Given the description of an element on the screen output the (x, y) to click on. 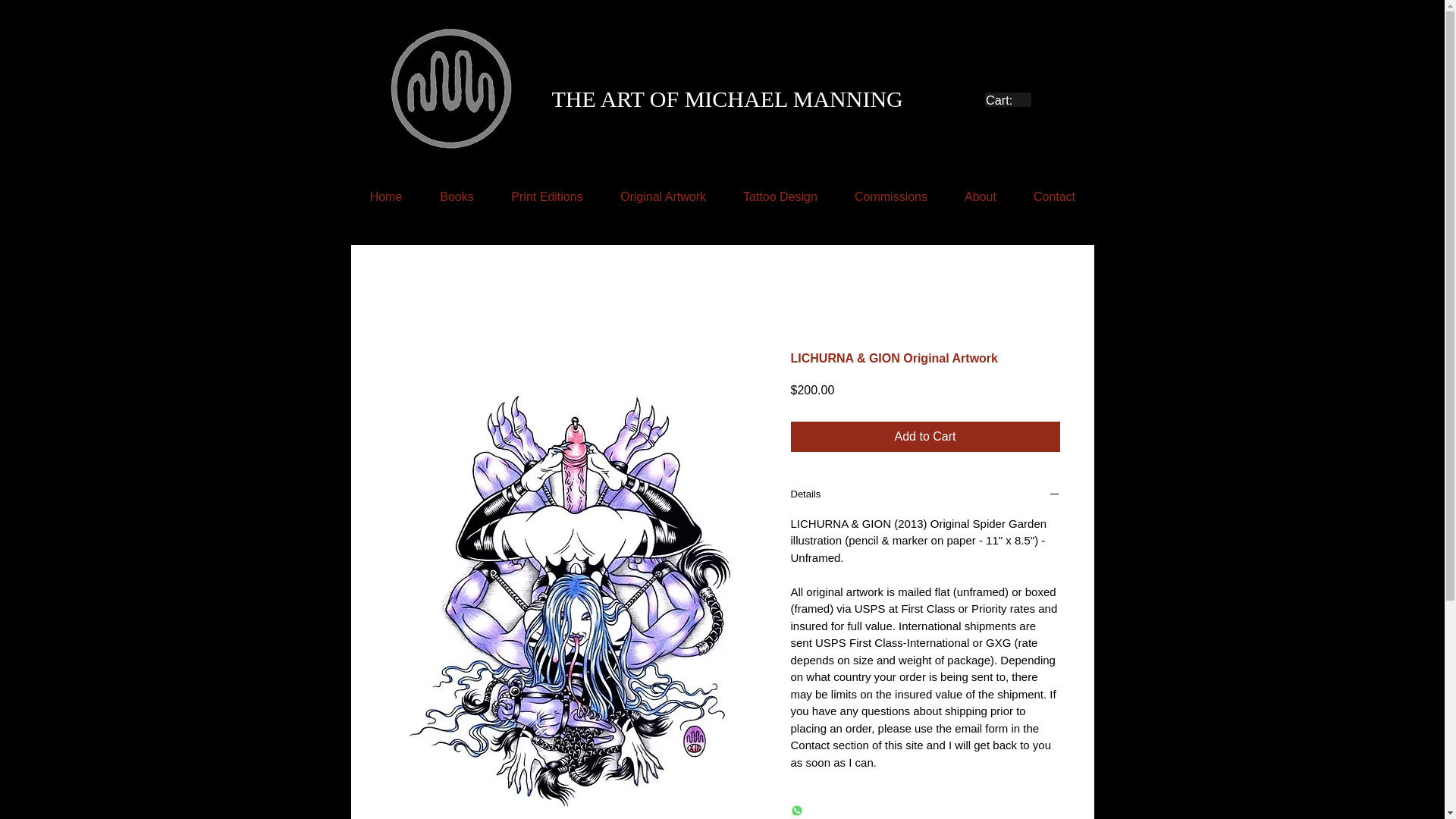
Cart: (1007, 100)
Commissions (890, 196)
mm-icon02.jpg (451, 88)
Tattoo Design (780, 196)
Original Artwork (663, 196)
Print Editions (546, 196)
Add to Cart (924, 436)
Books (456, 196)
Details (924, 495)
Cart: (1007, 100)
